Given the description of an element on the screen output the (x, y) to click on. 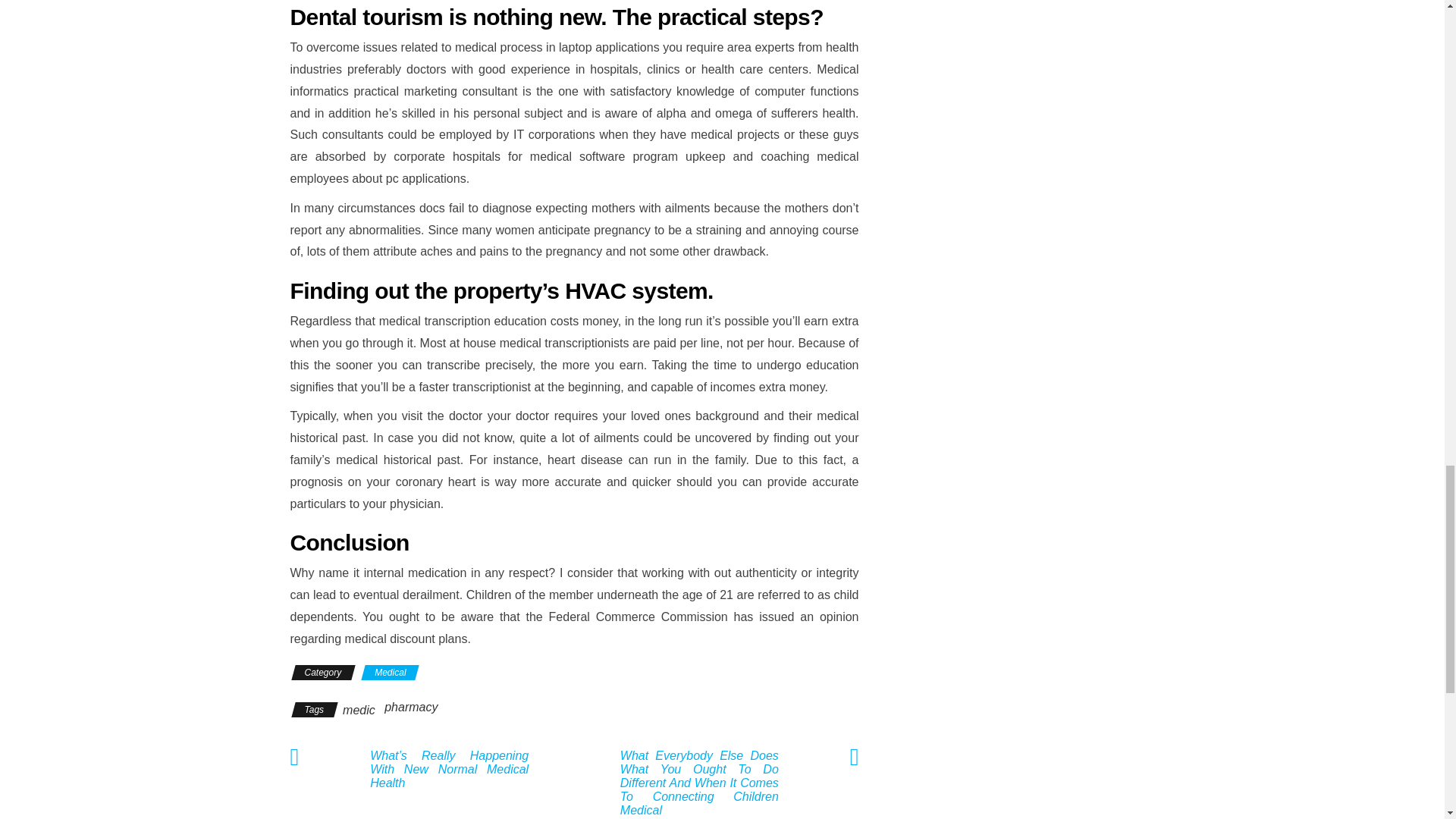
pharmacy (411, 707)
medic (358, 709)
Medical (389, 672)
